Given the description of an element on the screen output the (x, y) to click on. 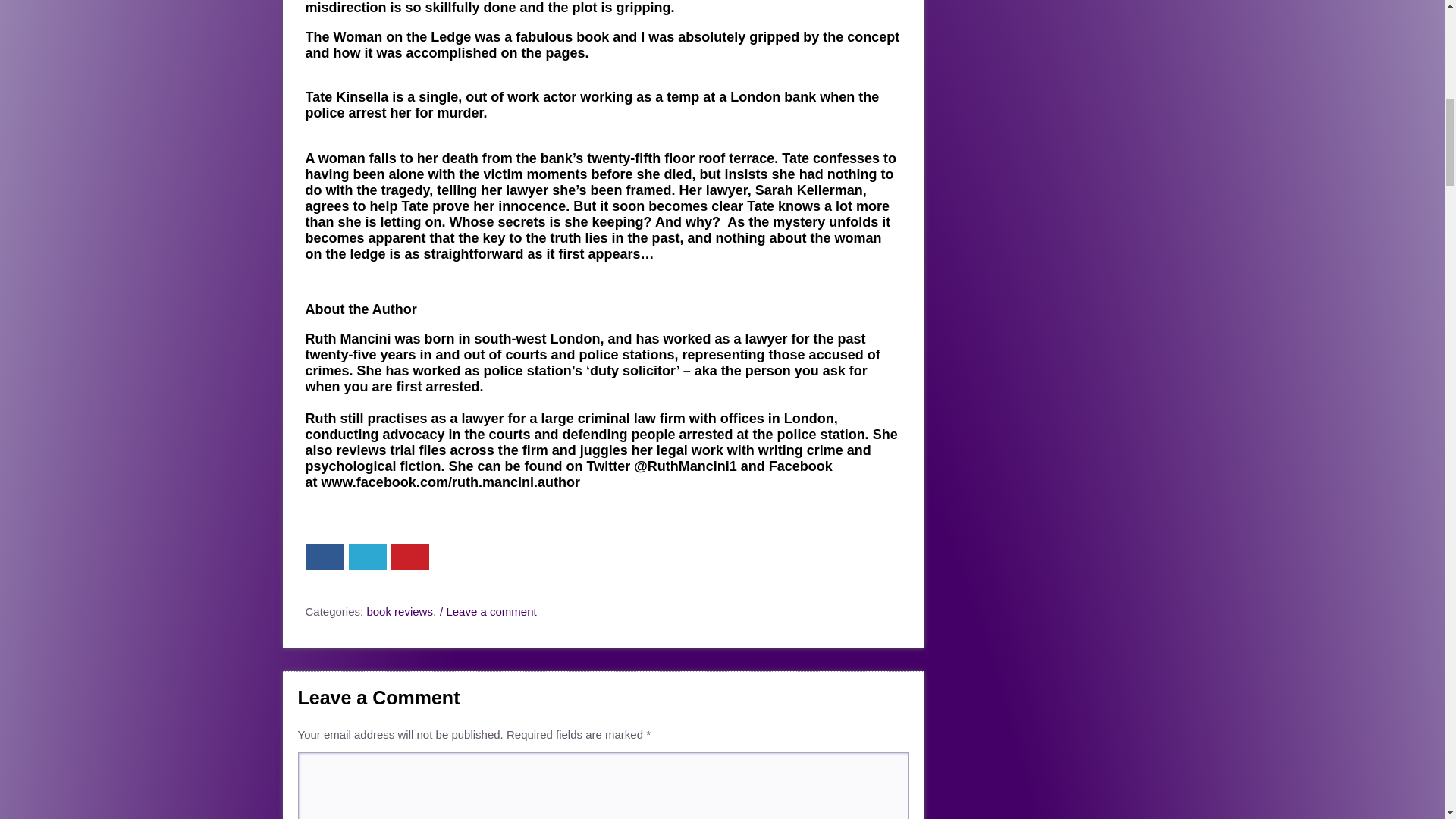
Share On Facebook (324, 556)
Share On Twitter (368, 556)
Share On Pinterest (410, 556)
book reviews (399, 611)
